Given the description of an element on the screen output the (x, y) to click on. 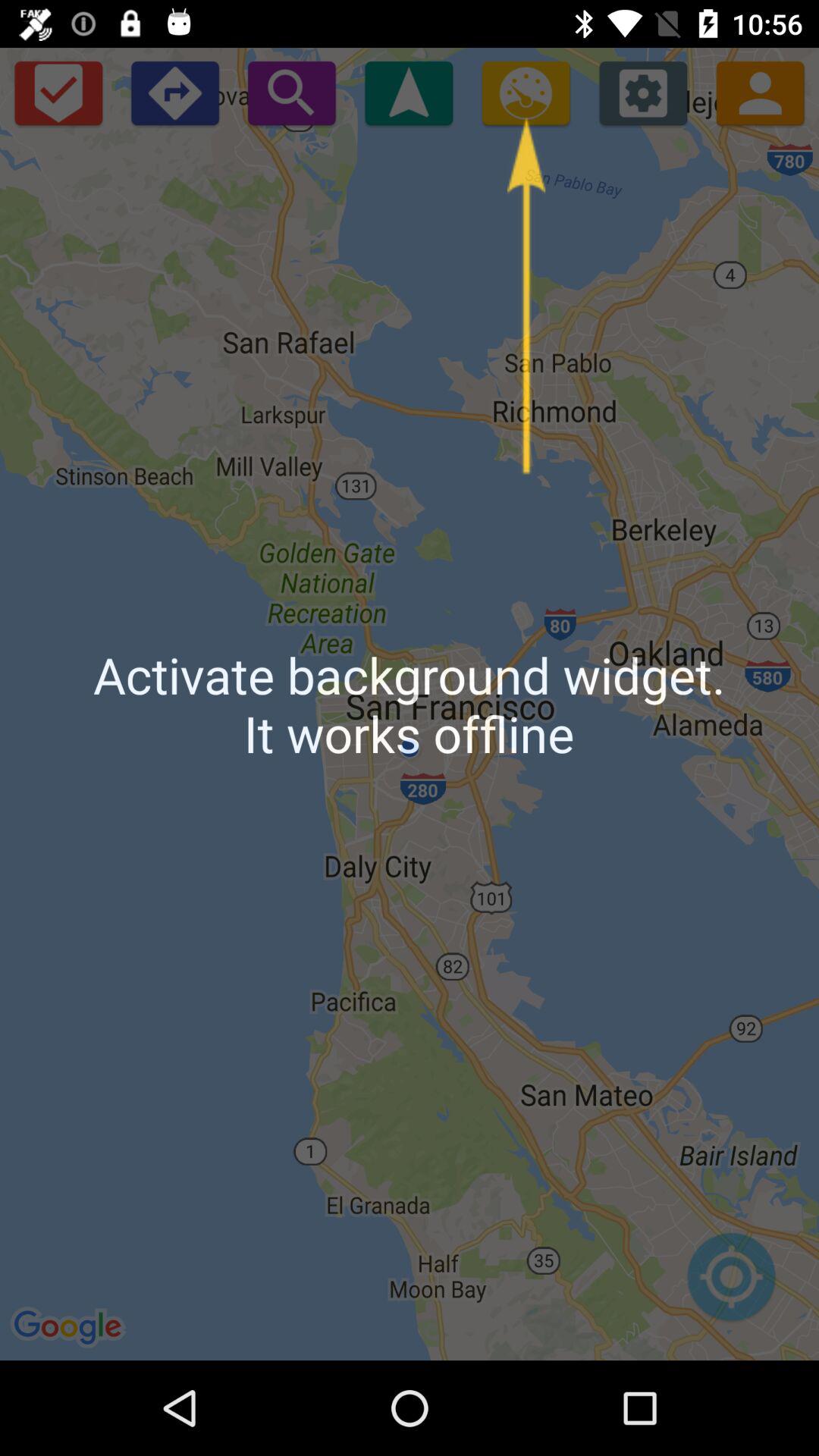
starts a search (291, 92)
